Given the description of an element on the screen output the (x, y) to click on. 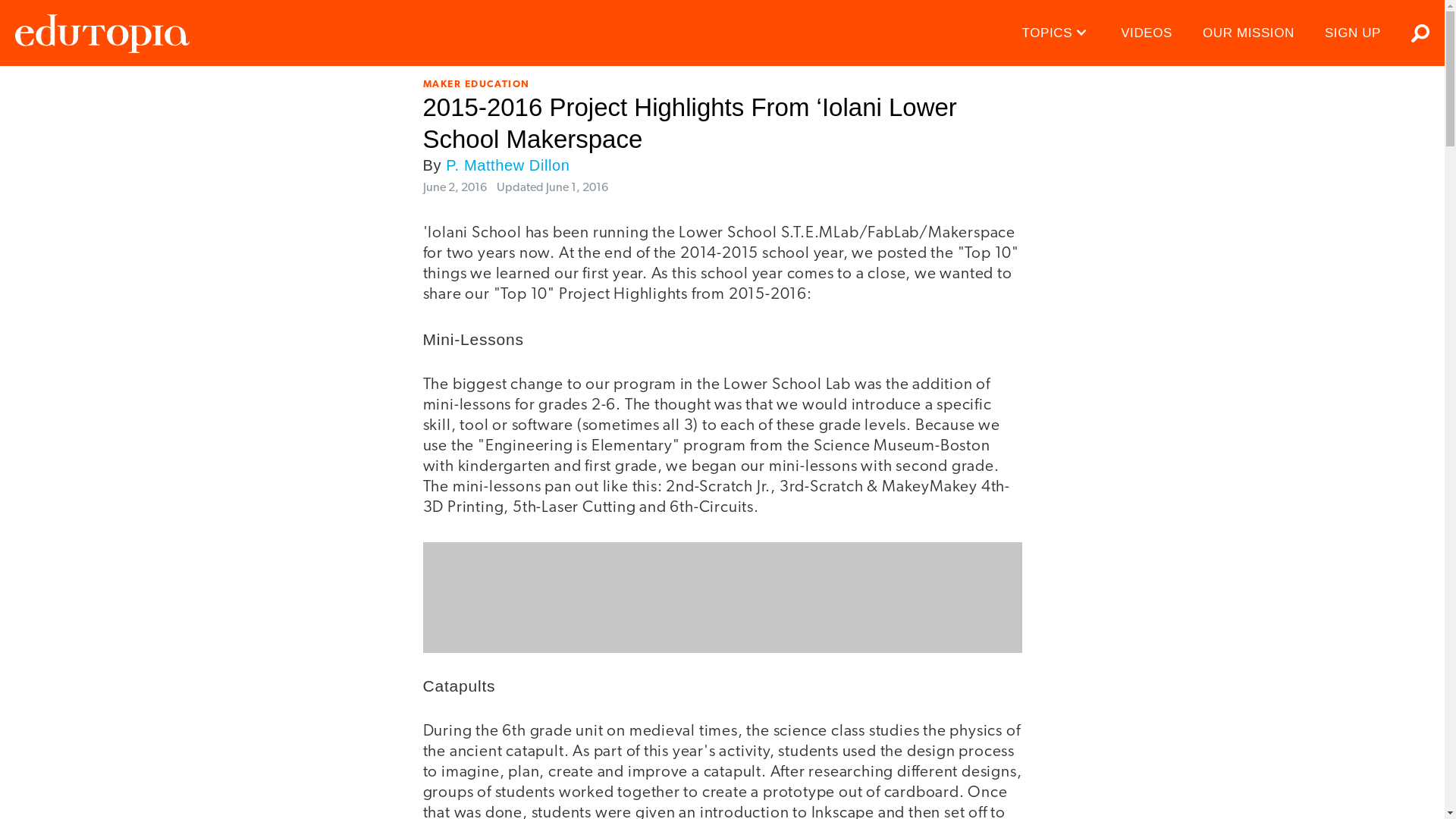
OUR MISSION (1248, 33)
Edutopia (101, 33)
Edutopia (101, 33)
VIDEOS (1146, 33)
TOPICS (1056, 33)
SIGN UP (1352, 33)
P. Matthew Dillon (507, 165)
